Given the description of an element on the screen output the (x, y) to click on. 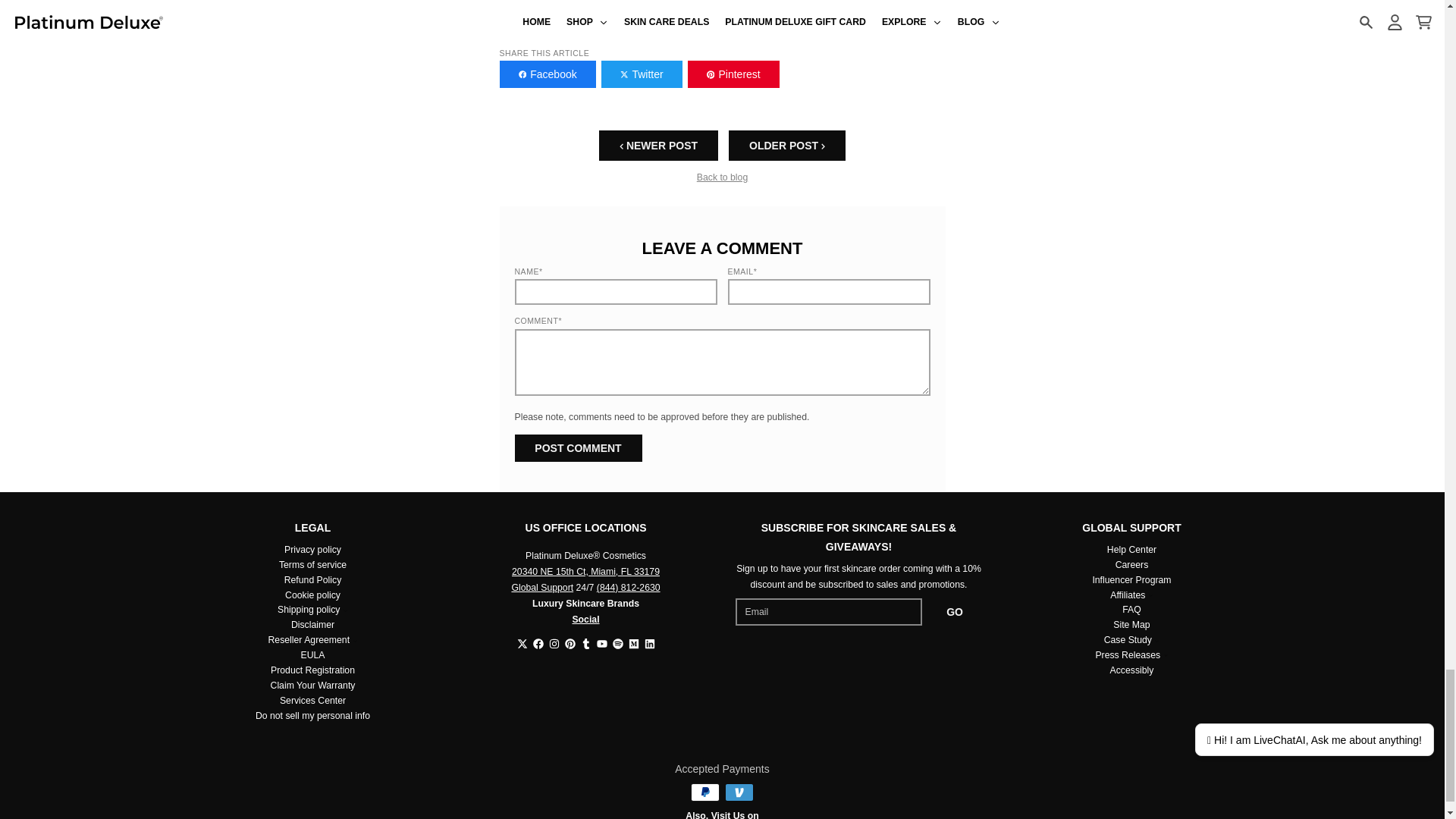
Pinterest - Platinum Deluxe Cosmetics (569, 643)
Twitter - Platinum Deluxe Cosmetics (521, 643)
Tumblr - Platinum Deluxe Cosmetics (585, 643)
Facebook - Platinum Deluxe Cosmetics (537, 643)
Medium - Platinum Deluxe Cosmetics (633, 643)
Instagram - Platinum Deluxe Cosmetics (553, 643)
LinkedIn - Platinum Deluxe Cosmetics (650, 643)
YouTube - Platinum Deluxe Cosmetics (601, 643)
Post comment (577, 447)
Spotify - Platinum Deluxe Cosmetics (617, 643)
